Given the description of an element on the screen output the (x, y) to click on. 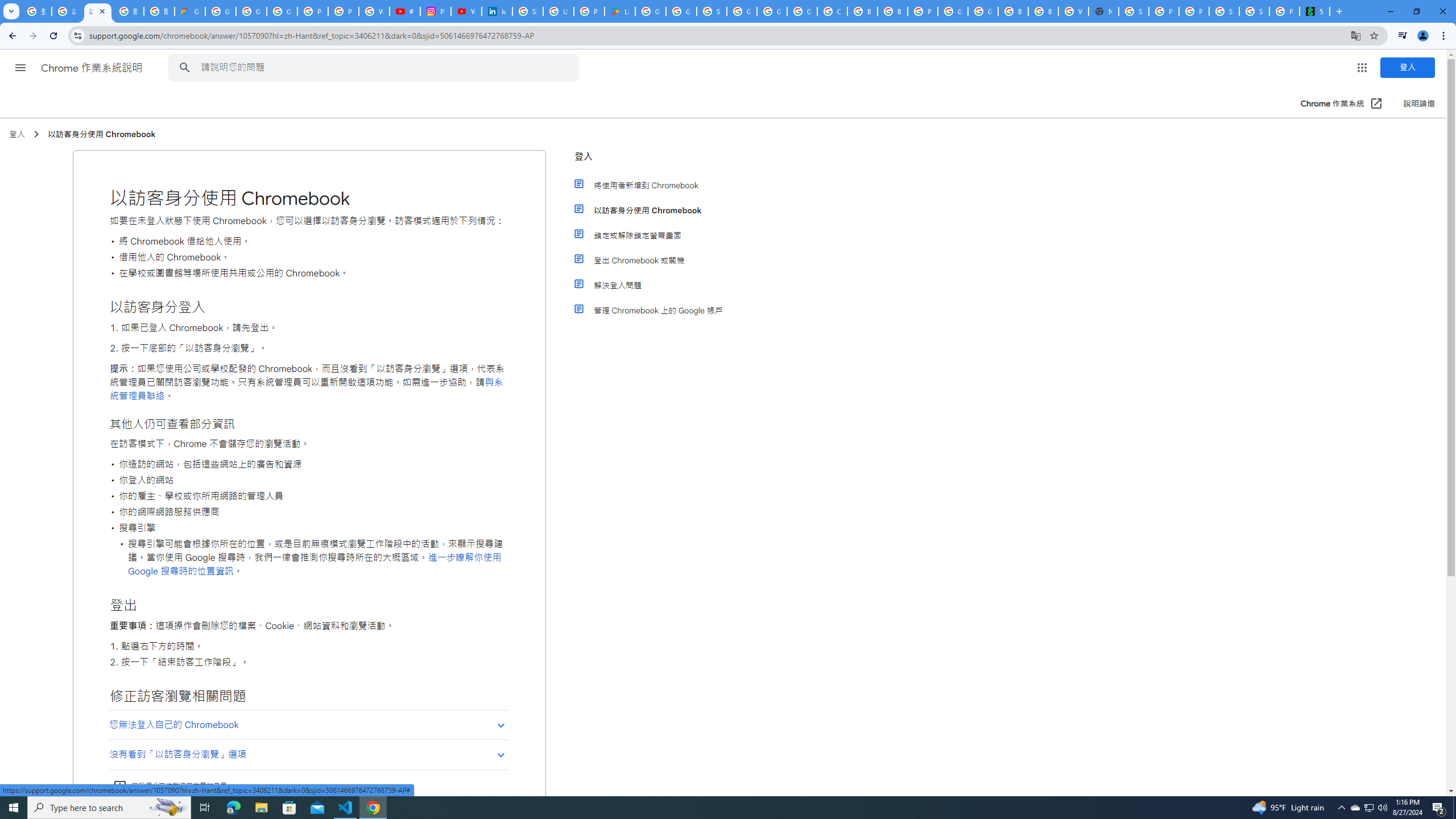
#nbabasketballhighlights - YouTube (404, 11)
Google Cloud Platform (771, 11)
Control your music, videos, and more (1402, 35)
Browse Chrome as a guest - Computer - Google Chrome Help (1042, 11)
